Given the description of an element on the screen output the (x, y) to click on. 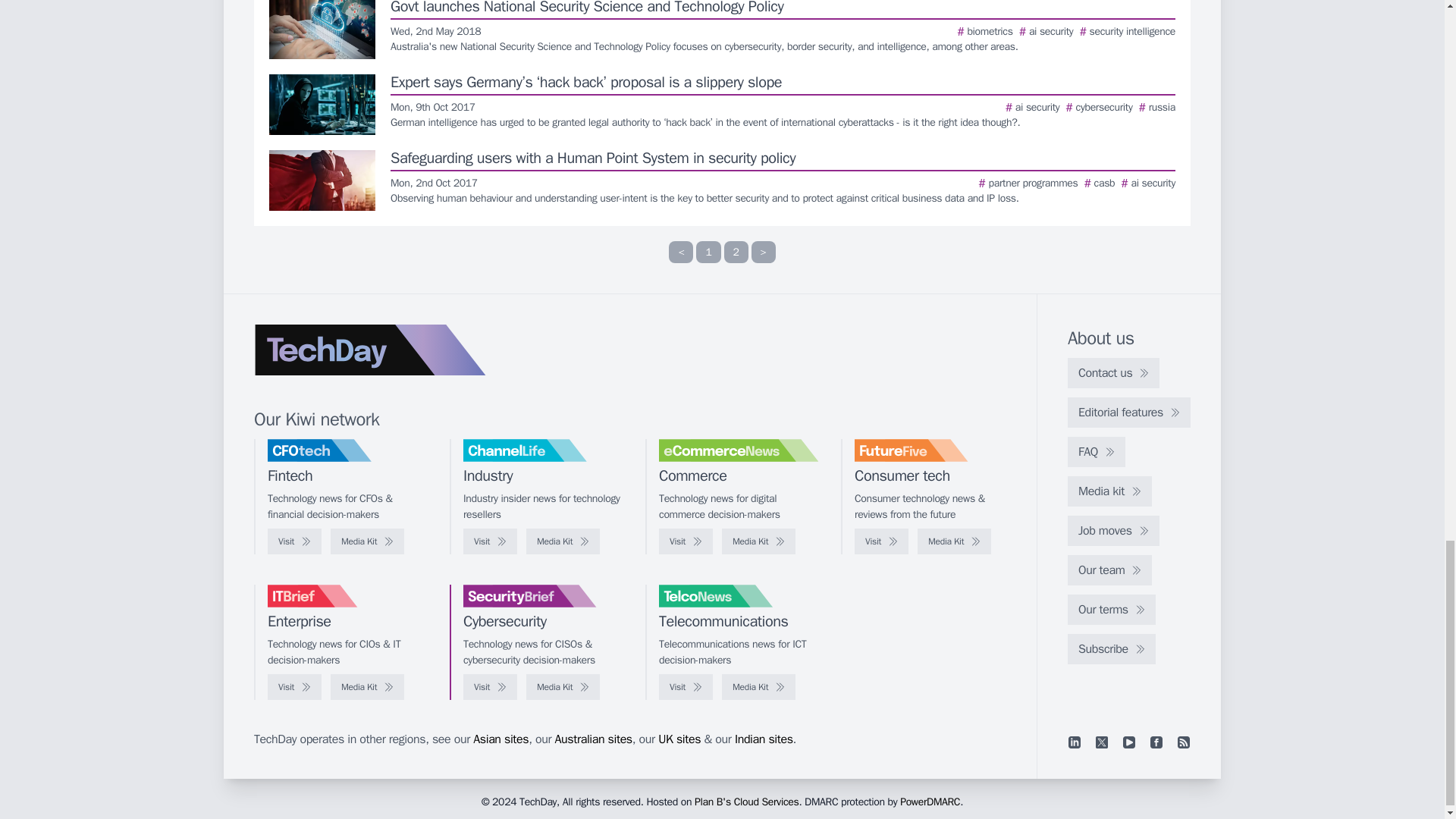
Visit (489, 541)
Visit (294, 541)
2 (735, 251)
Media Kit (562, 541)
1 (707, 251)
Media Kit (367, 541)
